Given the description of an element on the screen output the (x, y) to click on. 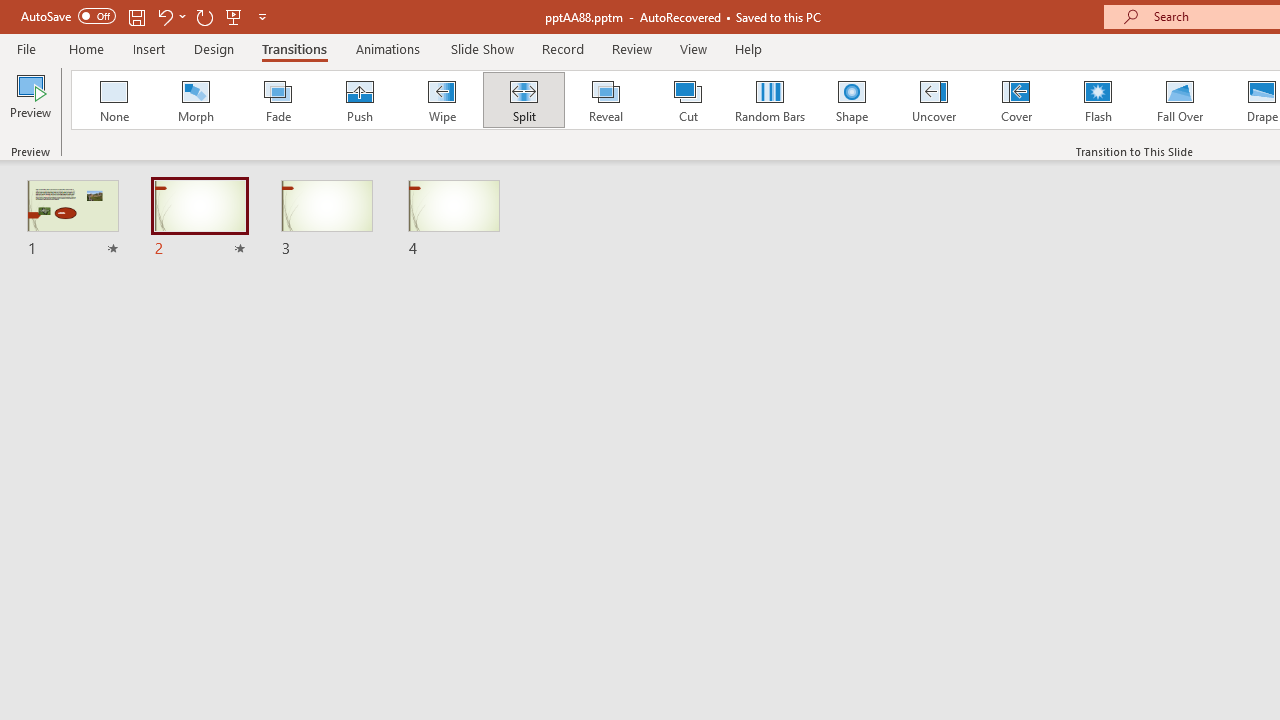
Shape (852, 100)
Cover (1016, 100)
Uncover (934, 100)
